Given the description of an element on the screen output the (x, y) to click on. 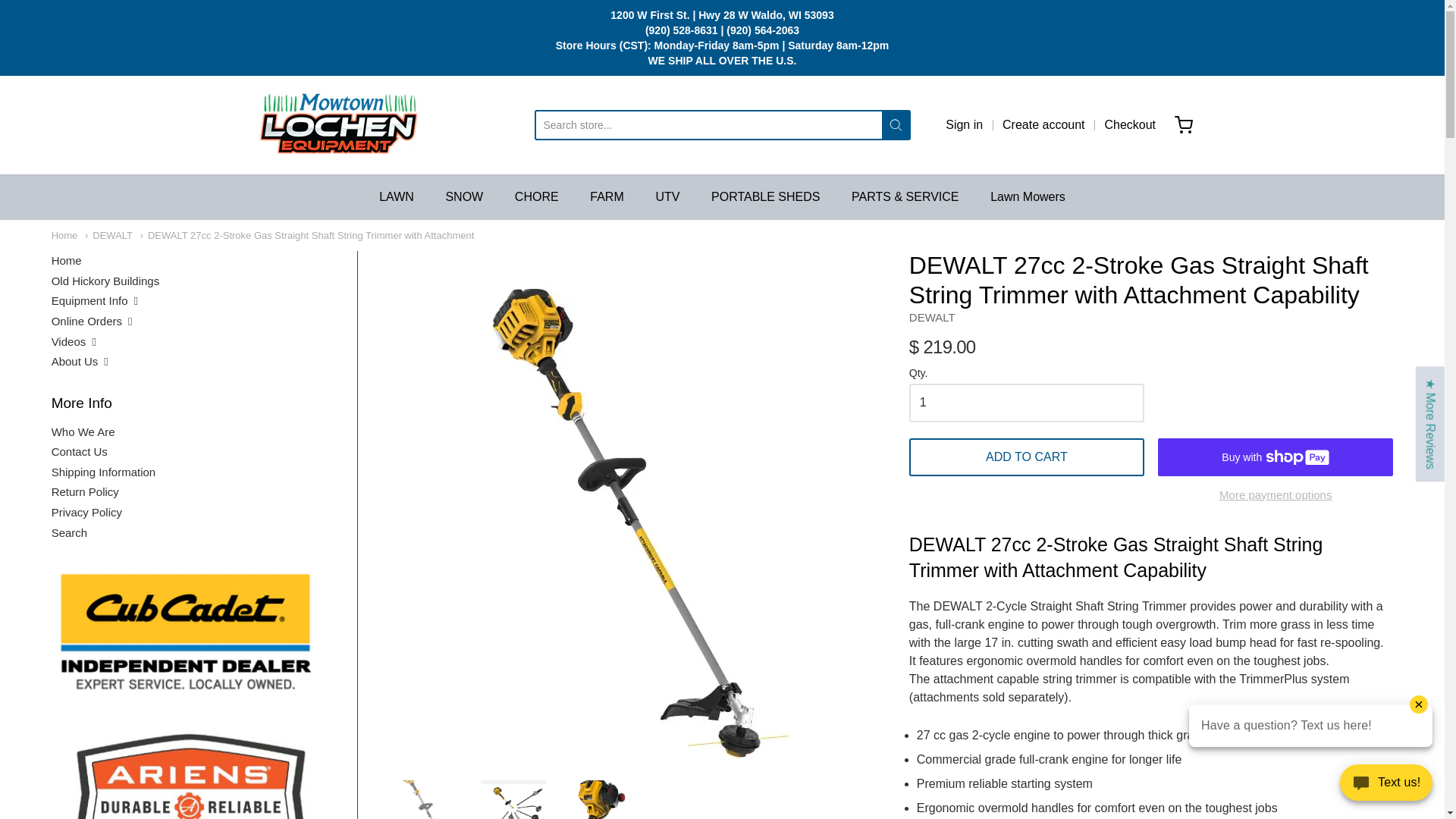
Checkout (1129, 125)
Create account (1043, 125)
1 (1026, 402)
SNOW (464, 196)
Mowtown Lochen Equipment (338, 125)
DEWALT (931, 317)
DEWALT (108, 235)
Home (64, 235)
LAWN (395, 196)
Sign in (963, 125)
